Given the description of an element on the screen output the (x, y) to click on. 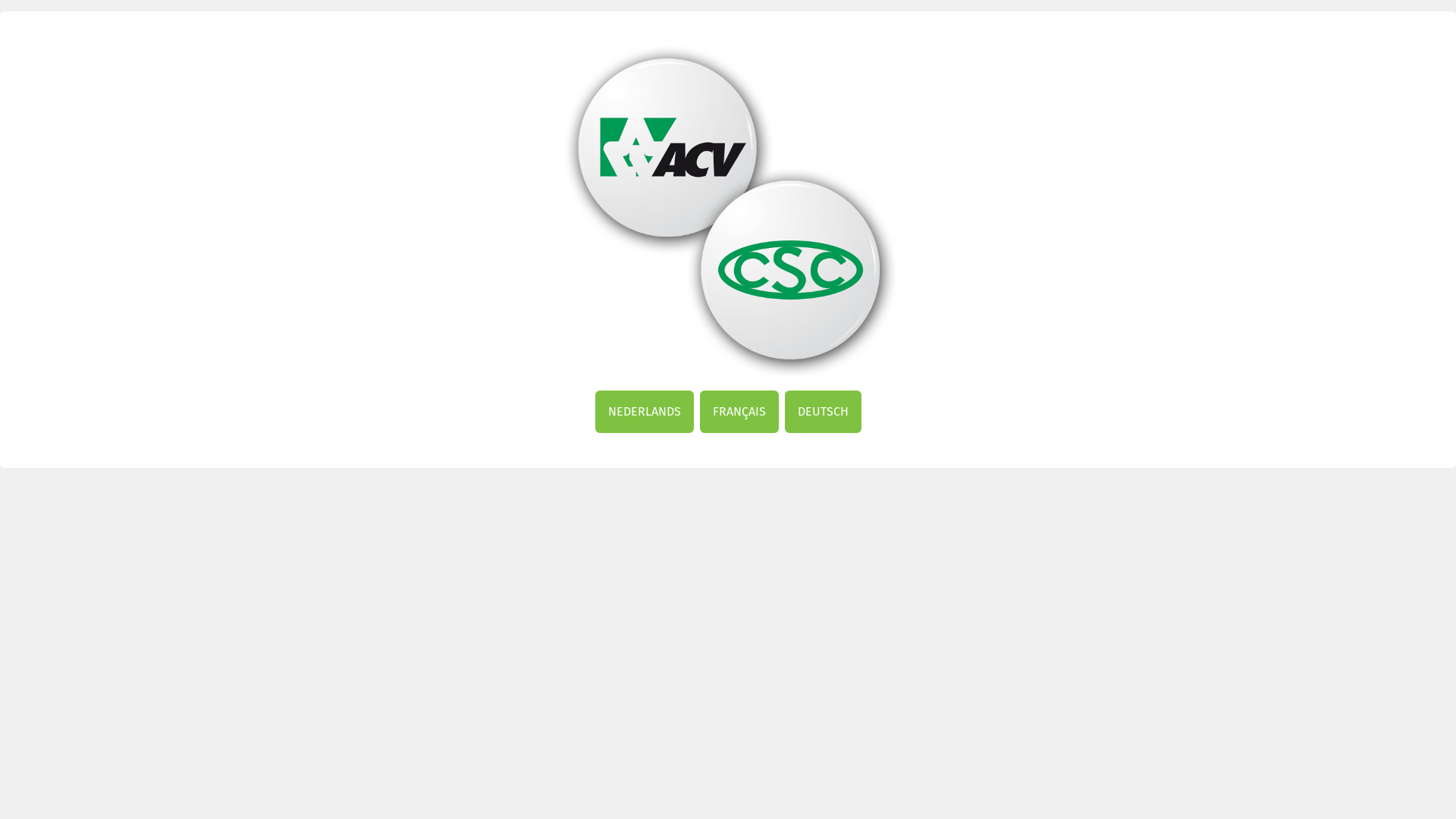
DEUTSCH Element type: text (822, 411)
NEDERLANDS Element type: text (643, 411)
